Given the description of an element on the screen output the (x, y) to click on. 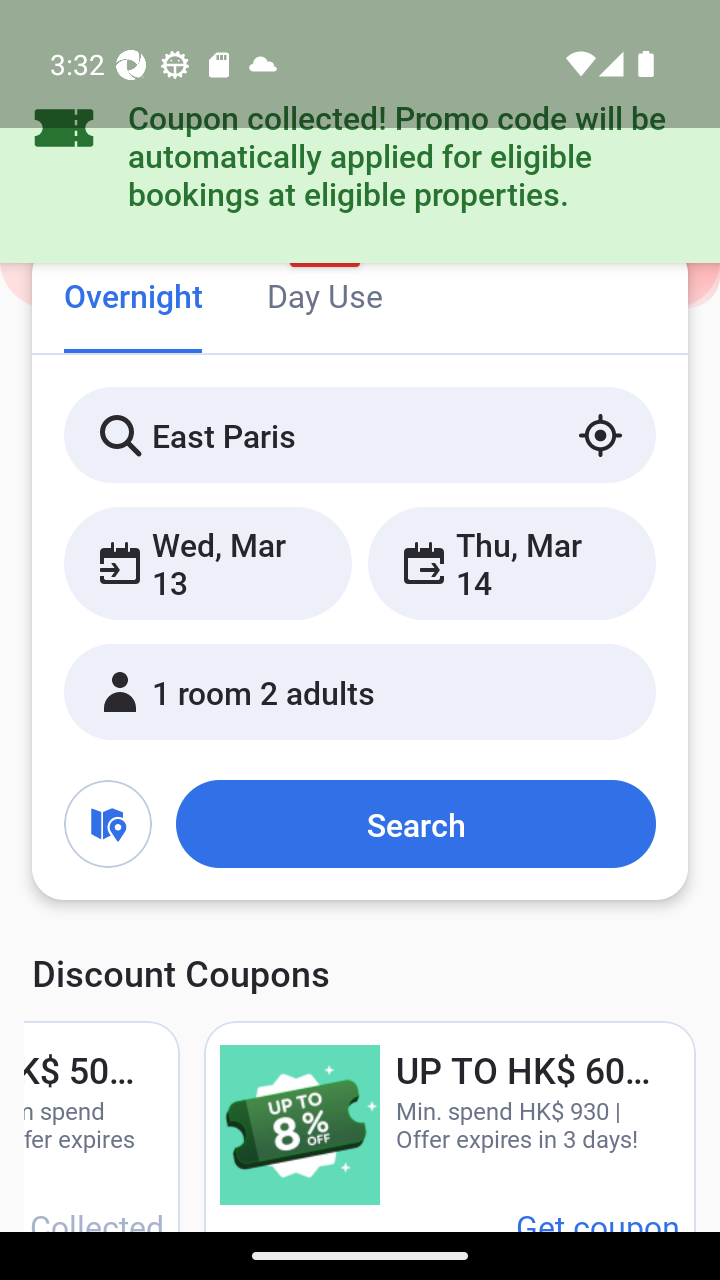
Day Use (324, 298)
East Paris (359, 434)
Wed, Mar 13 (208, 562)
Thu, Mar 14 (511, 562)
1 room 2 adults (359, 691)
Search (415, 823)
